Given the description of an element on the screen output the (x, y) to click on. 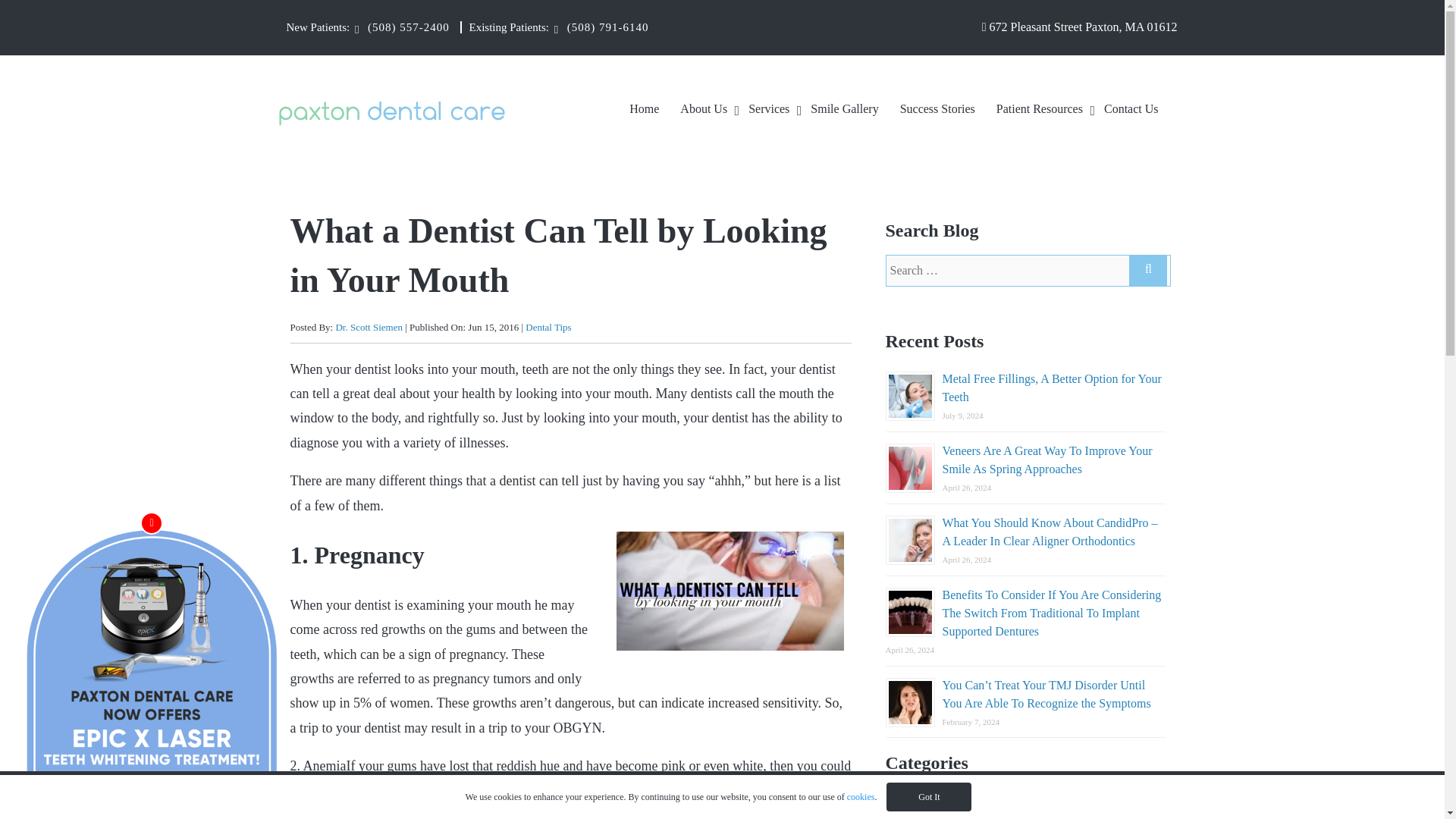
672 Pleasant Street Paxton, MA 01612 (1079, 26)
Home (643, 113)
Services (768, 113)
About Us (703, 113)
